Given the description of an element on the screen output the (x, y) to click on. 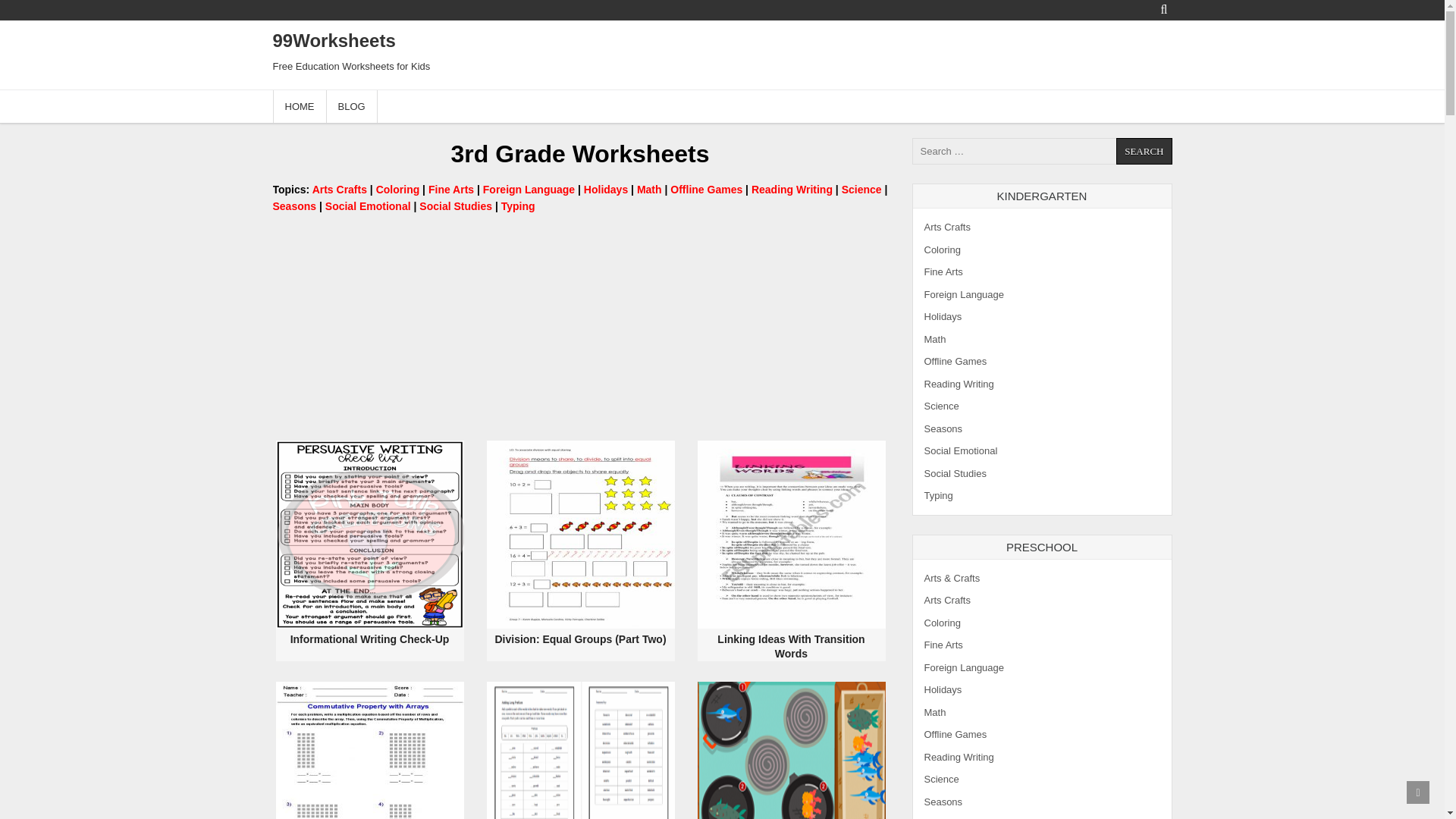
Social Studies (455, 205)
Search (1144, 151)
Informational Writing Check-Up (370, 534)
Coloring (397, 189)
Offline Games (705, 189)
Typing (517, 205)
Linking Ideas With Transition Words (791, 534)
Linking Ideas With Transition Words (790, 646)
Fine Arts (451, 189)
Social Emotional (367, 205)
Science (861, 189)
BLOG (351, 106)
Arts Crafts (339, 189)
99Worksheets (334, 40)
Reading Writing (791, 189)
